Given the description of an element on the screen output the (x, y) to click on. 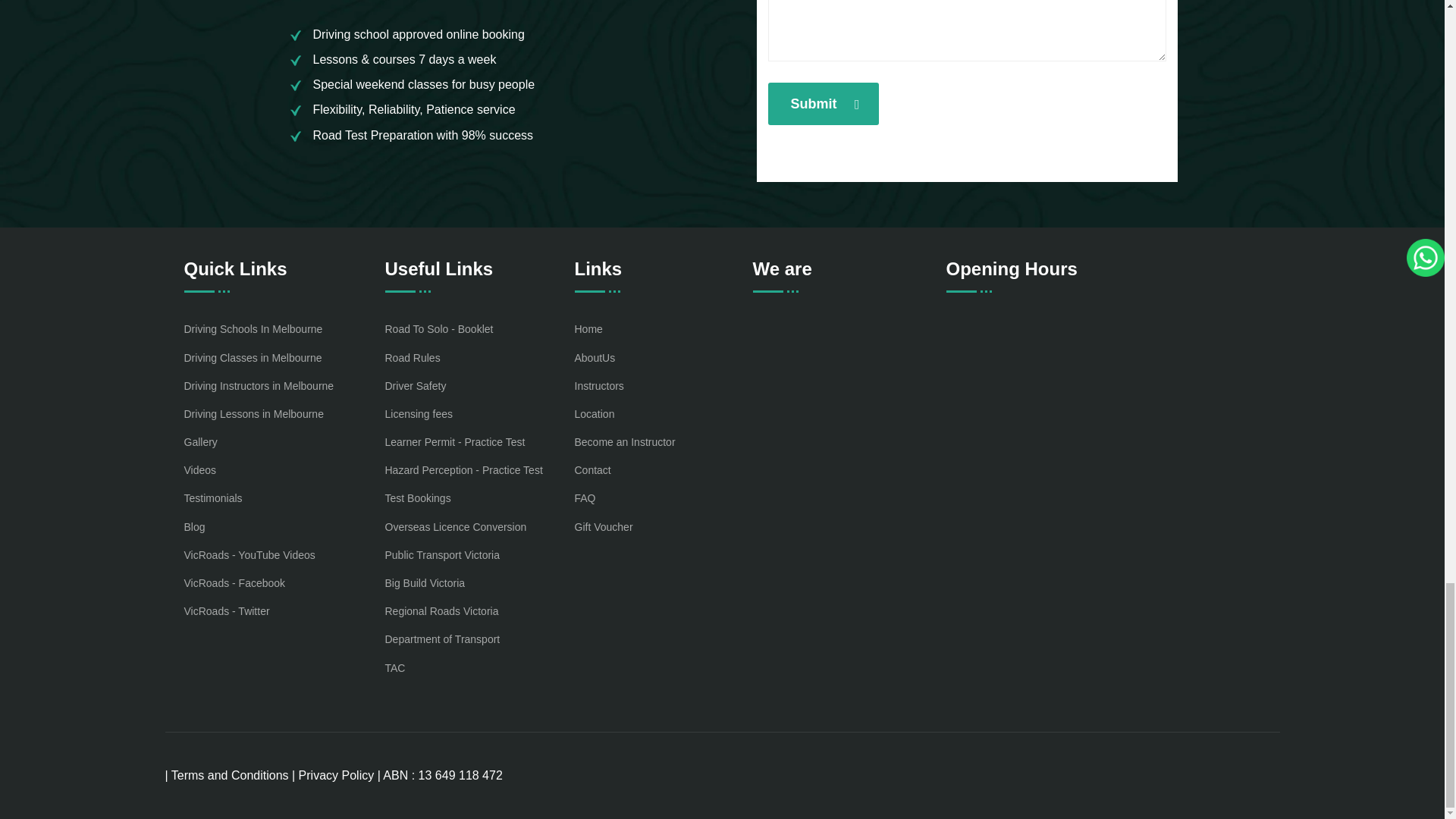
Driving Lessons in Melbourne (253, 414)
Department of Transport (442, 639)
Home (588, 329)
Test Bookings (418, 498)
Driving Classes in Melbourne (252, 357)
VicRoads - Twitter (226, 611)
Blog (194, 526)
Testimonials (212, 498)
AboutUs (595, 357)
Learner Permit - Practice Test (455, 442)
Driver Safety (415, 385)
Road Rules (413, 357)
Licensing fees (418, 414)
Driving Schools In Melbourne (252, 329)
Public Transport Victoria (442, 555)
